Given the description of an element on the screen output the (x, y) to click on. 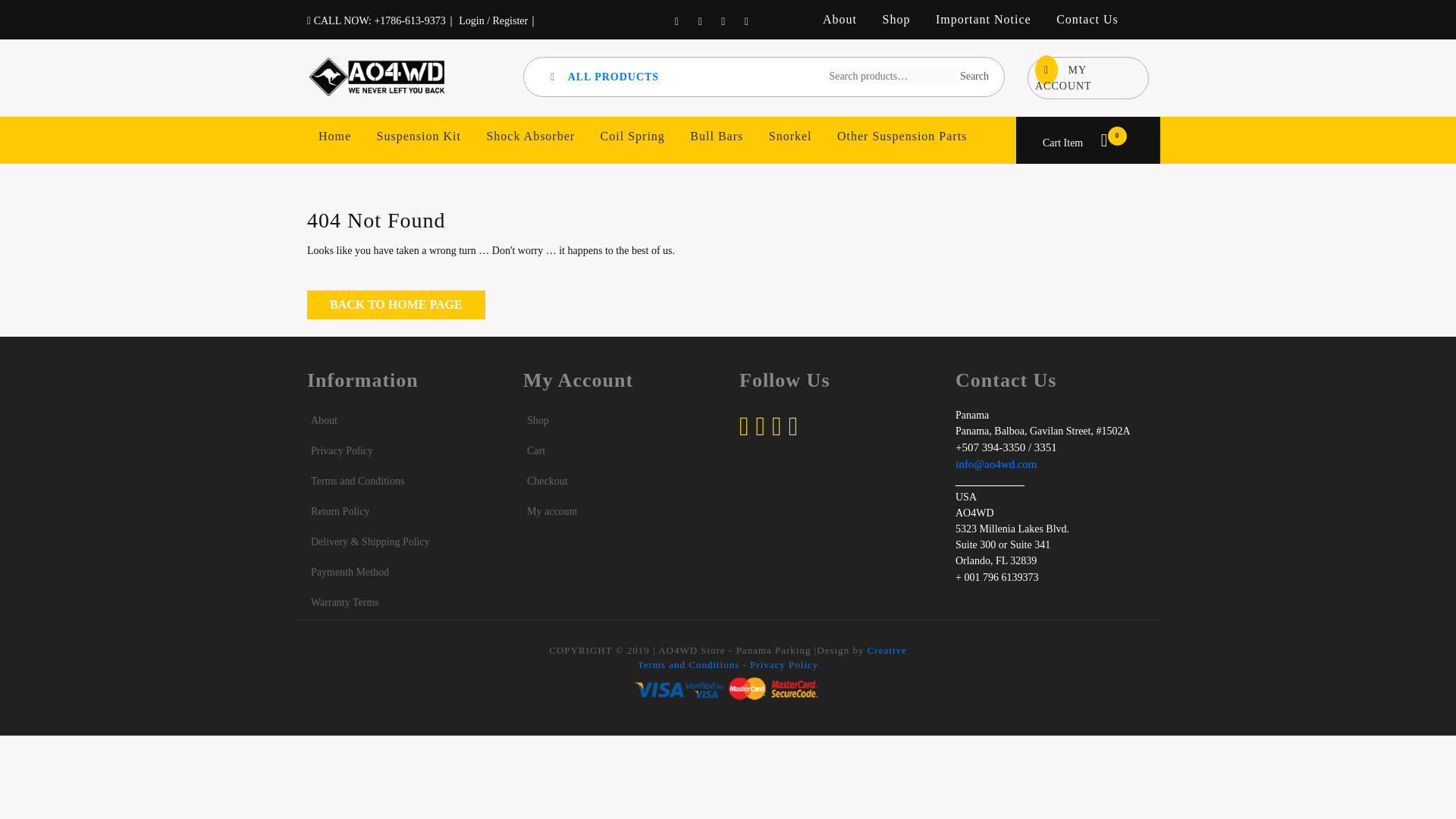
Important Notice (983, 19)
Coil Spring (632, 136)
Terms and Conditions (357, 480)
Shop (537, 419)
Warranty Terms (344, 602)
Snorkel (790, 136)
Shock Absorber (530, 136)
BACK TO HOME PAGE (1075, 142)
Paymenth Method (395, 304)
